Given the description of an element on the screen output the (x, y) to click on. 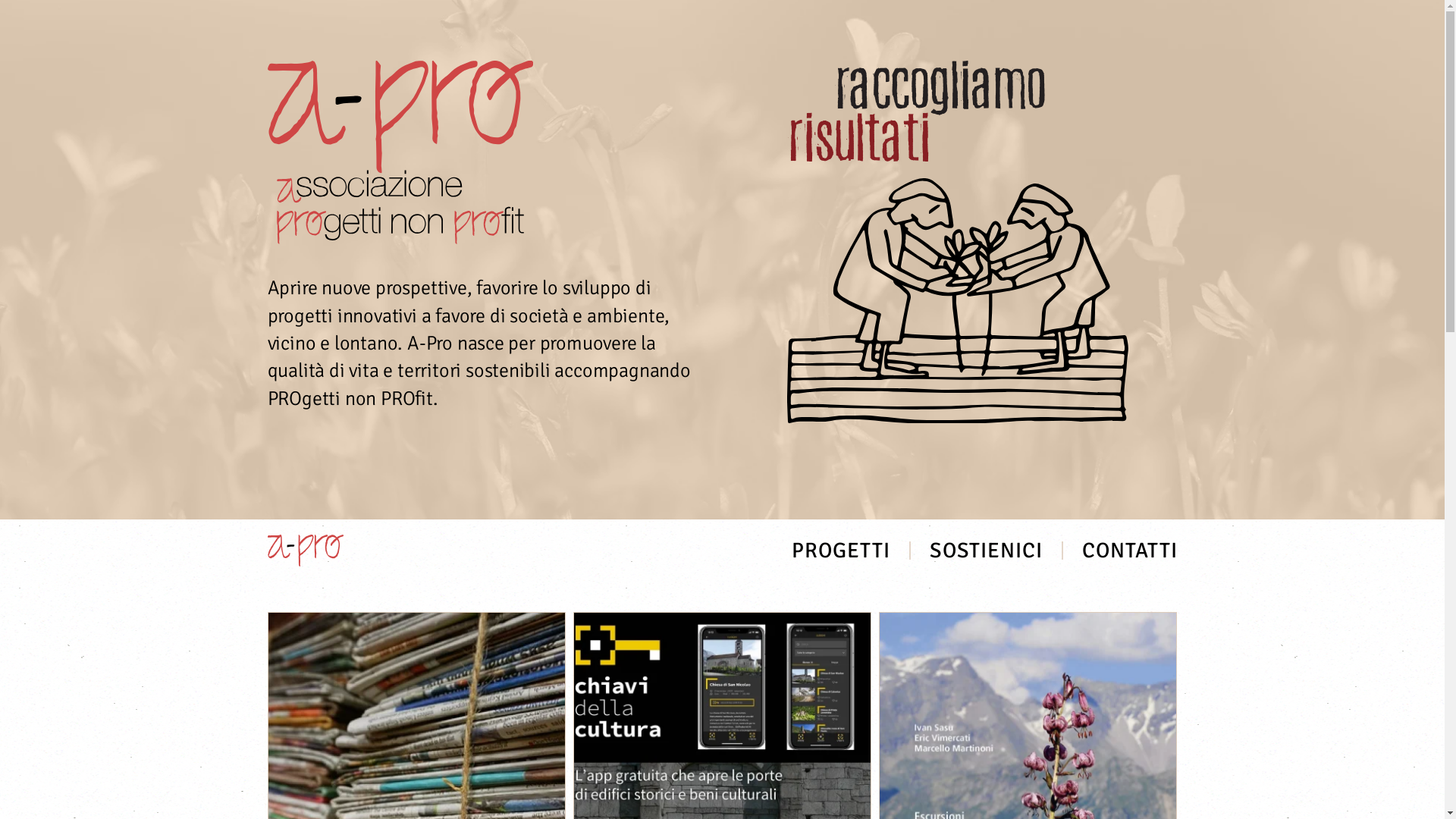
CONTATTI Element type: text (1128, 550)
SOSTIENICI Element type: text (985, 550)
PROGETTI Element type: text (840, 550)
